Given the description of an element on the screen output the (x, y) to click on. 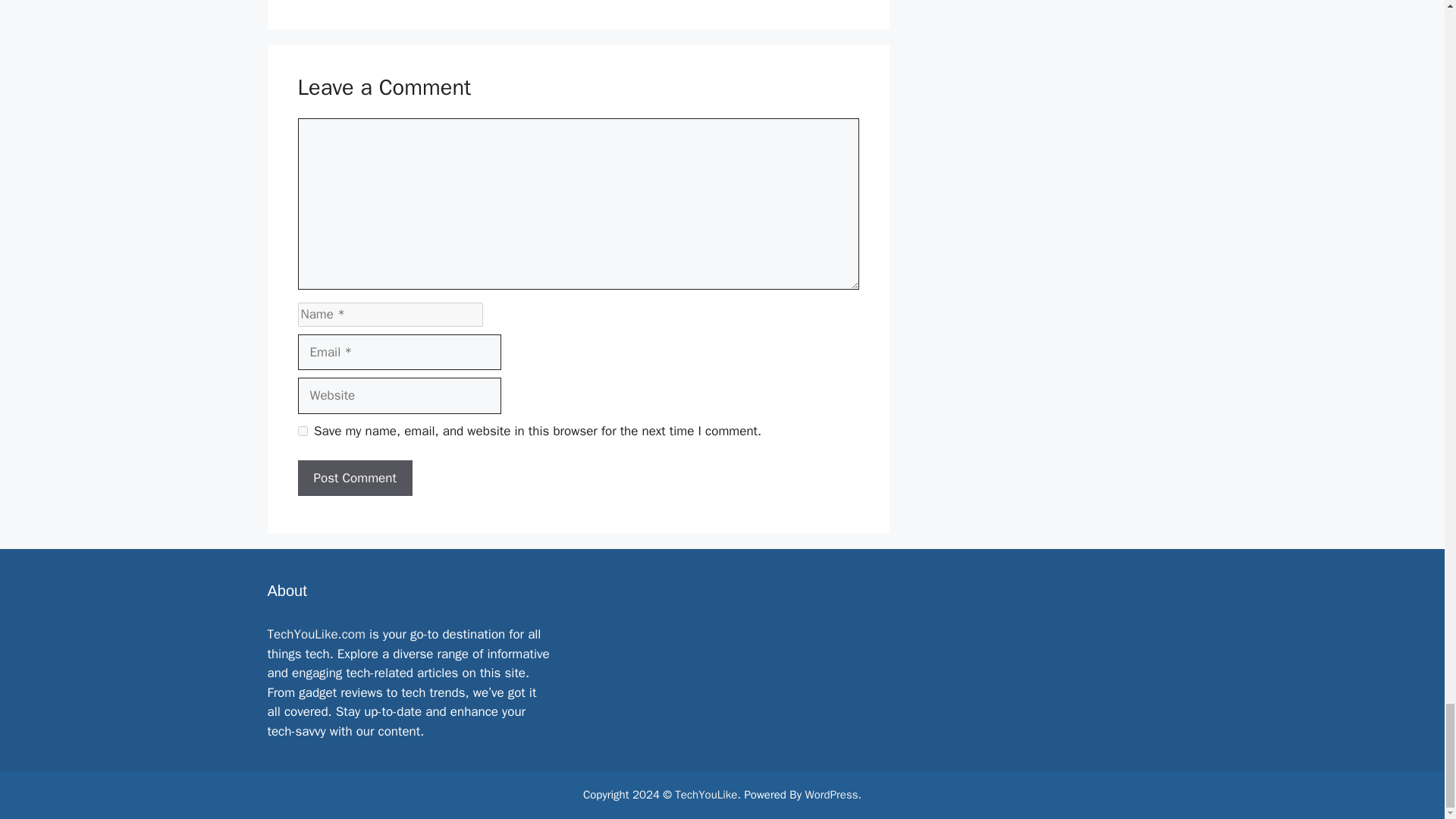
Post Comment (354, 478)
yes (302, 430)
